Given the description of an element on the screen output the (x, y) to click on. 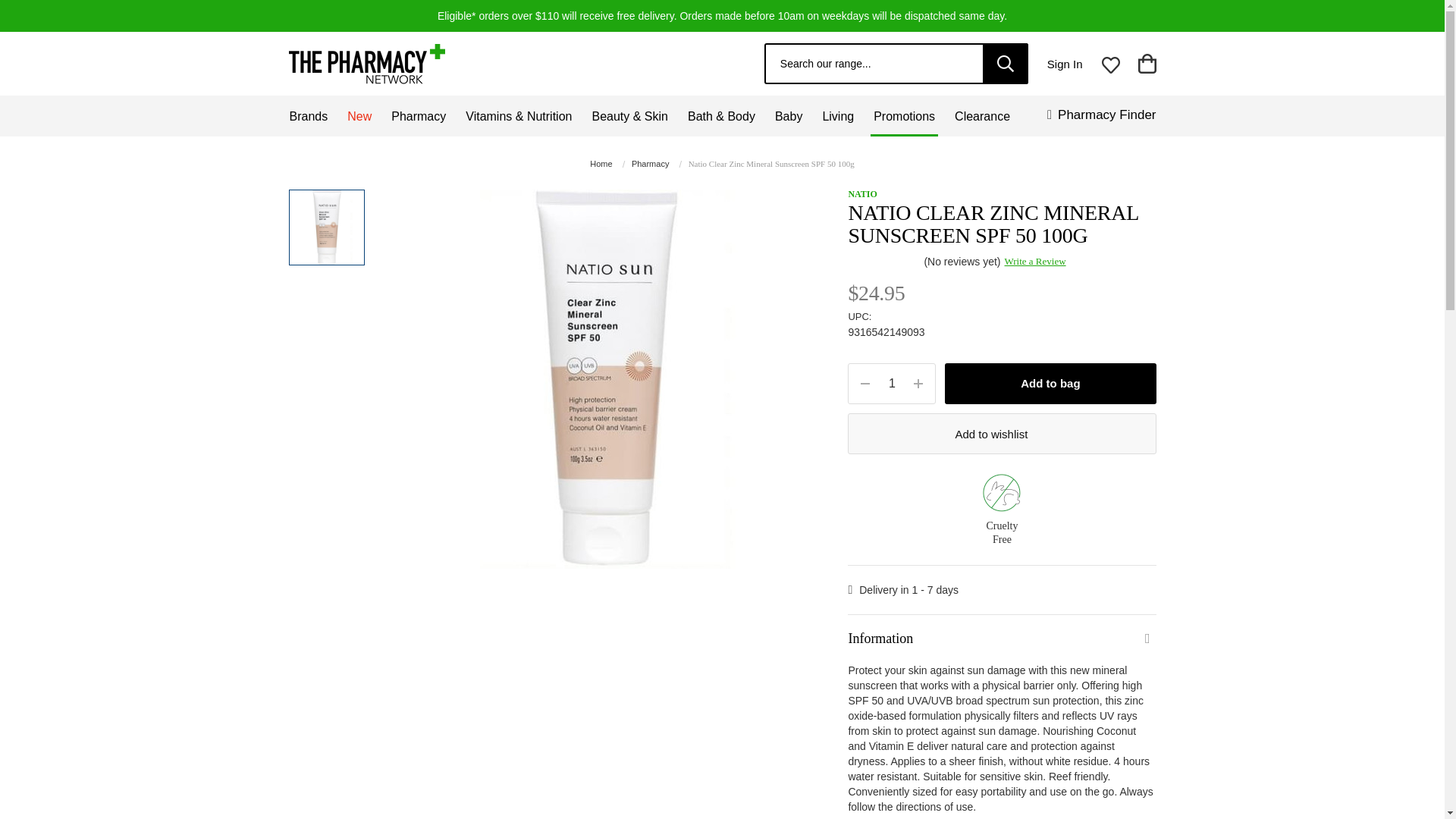
Product rating is 0 of 5 (885, 261)
Brands (308, 115)
The Pharmacy Network (366, 64)
Pharmacy (418, 115)
Add to bag (1050, 383)
Natio Clear Zinc Mineral Sunscreen SPF 50 100g (326, 227)
Sign In (1064, 62)
1 (891, 383)
